Given the description of an element on the screen output the (x, y) to click on. 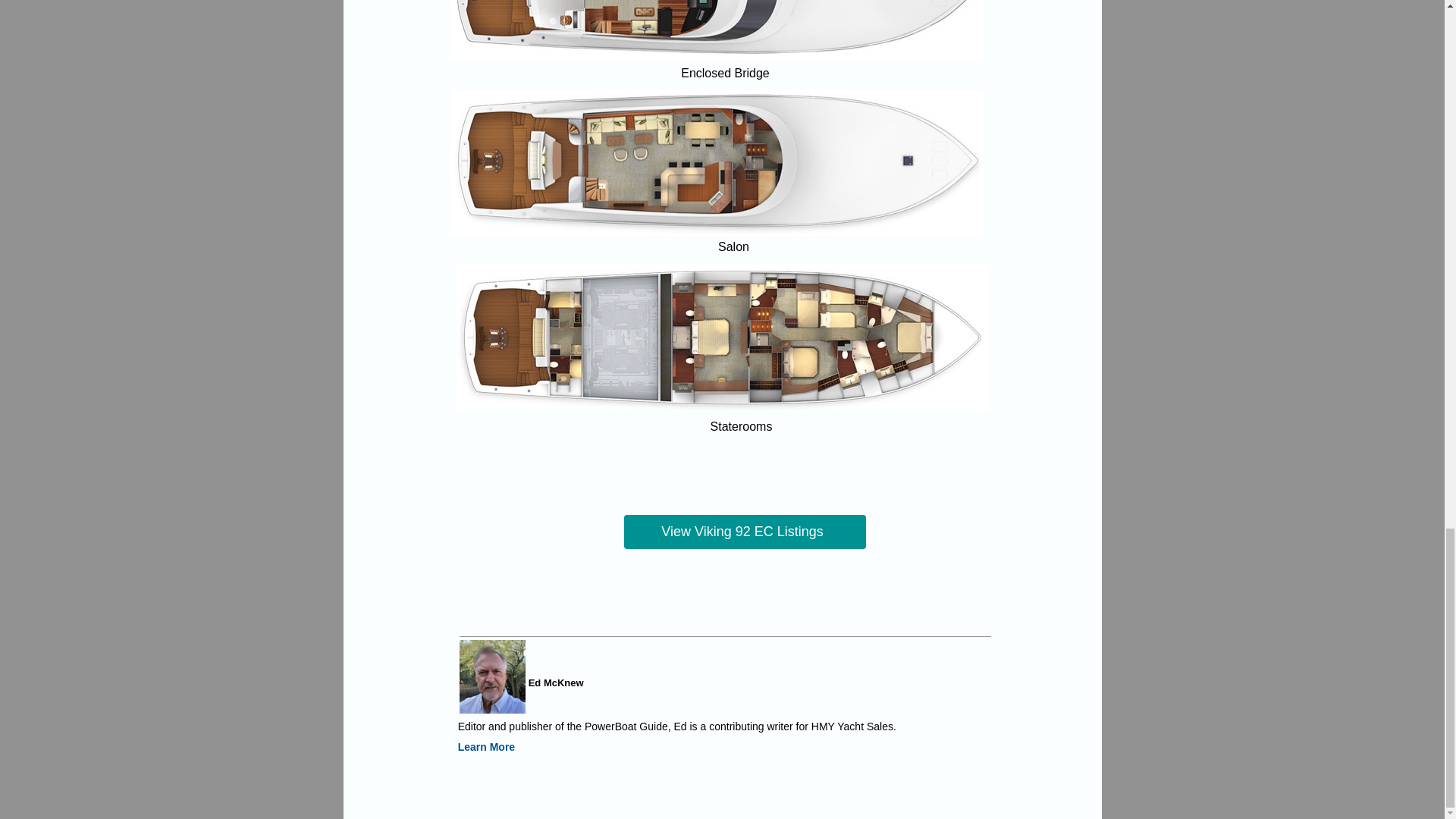
Learn More (486, 746)
